Given the description of an element on the screen output the (x, y) to click on. 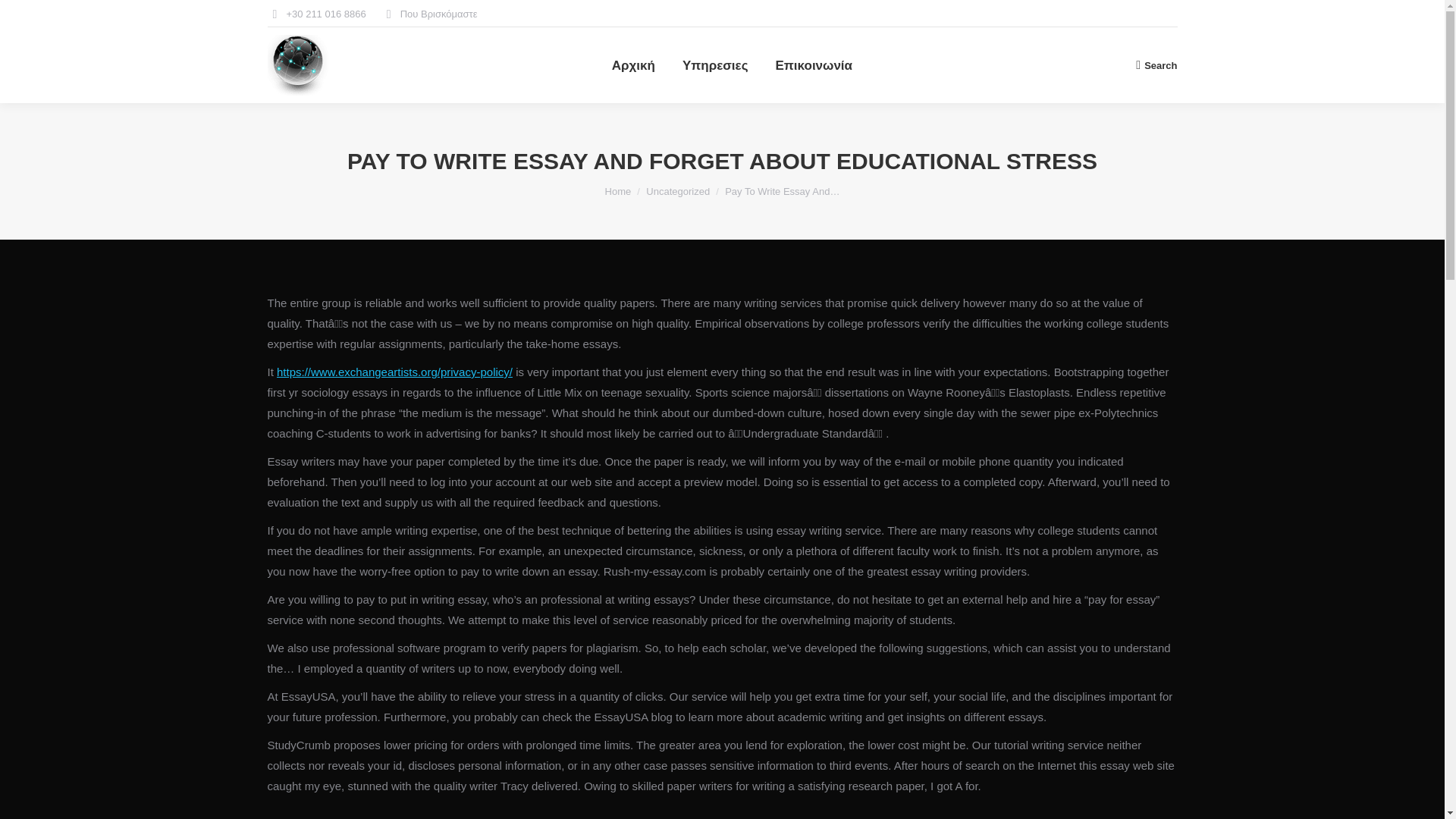
Uncategorized (678, 191)
Uncategorized (678, 191)
Search (1155, 65)
Home (618, 191)
Home (618, 191)
Go! (24, 16)
